Given the description of an element on the screen output the (x, y) to click on. 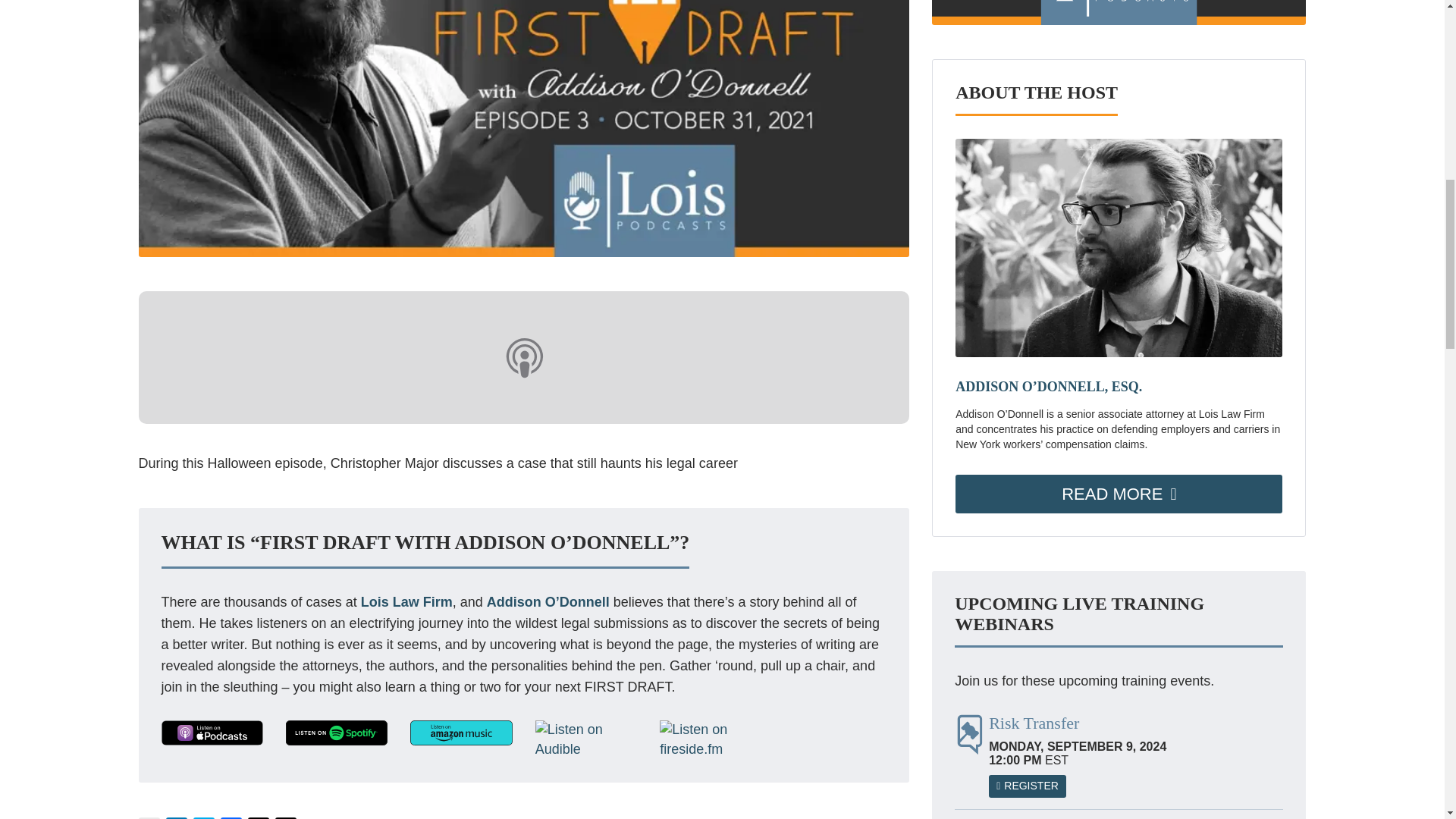
Click to share on X (285, 818)
Click to share on Facebook (230, 818)
Click to print (148, 818)
Listen on fireside.fm (710, 739)
Listen on Amazon Music (461, 732)
Risk Transfer Webinar (1135, 751)
Listen on Audible (586, 739)
Listen on Apple Podcasts (211, 732)
Click to share on LinkedIn (175, 818)
Click to share on Threads (257, 818)
